Given the description of an element on the screen output the (x, y) to click on. 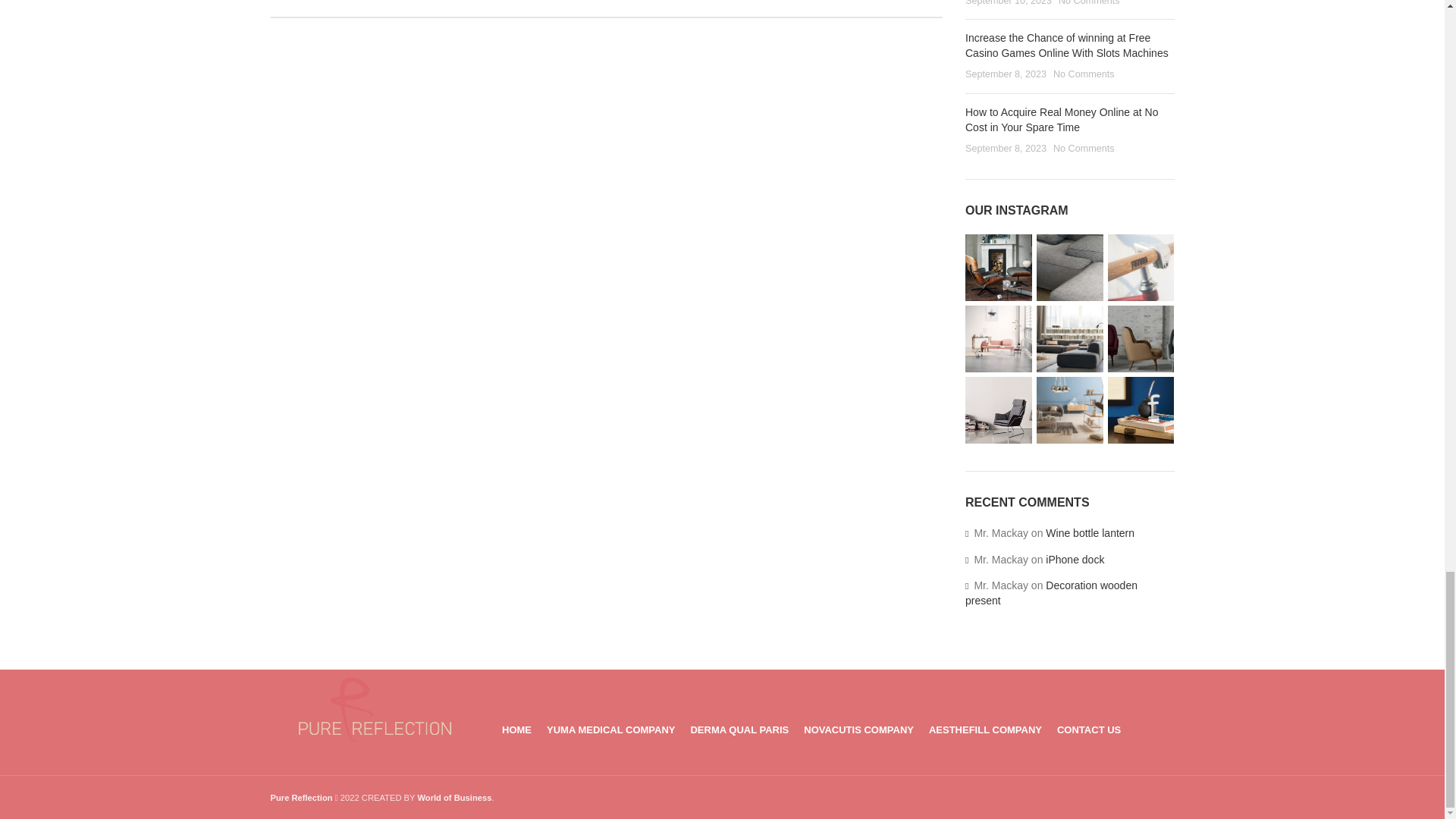
pure-reflection-logo-png (374, 709)
